Given the description of an element on the screen output the (x, y) to click on. 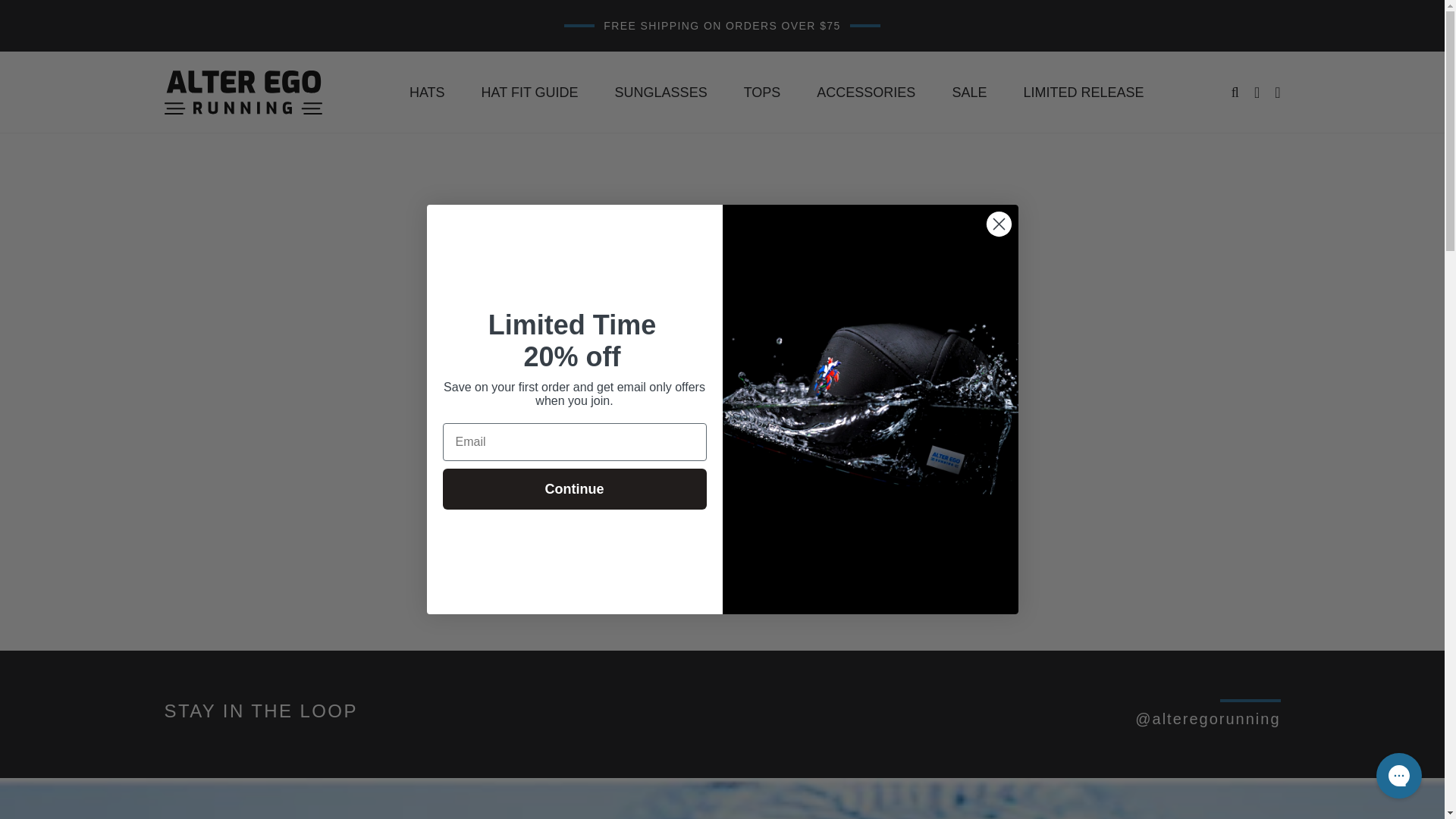
HAT FIT GUIDE (529, 92)
LIMITED RELEASE (1082, 92)
TOPS (762, 92)
SUNGLASSES (660, 92)
BACK HOME (722, 550)
Gorgias live chat messenger (1398, 775)
Close dialog 1 (998, 223)
HATS (427, 92)
ACCESSORIES (865, 92)
SALE (969, 92)
